Given the description of an element on the screen output the (x, y) to click on. 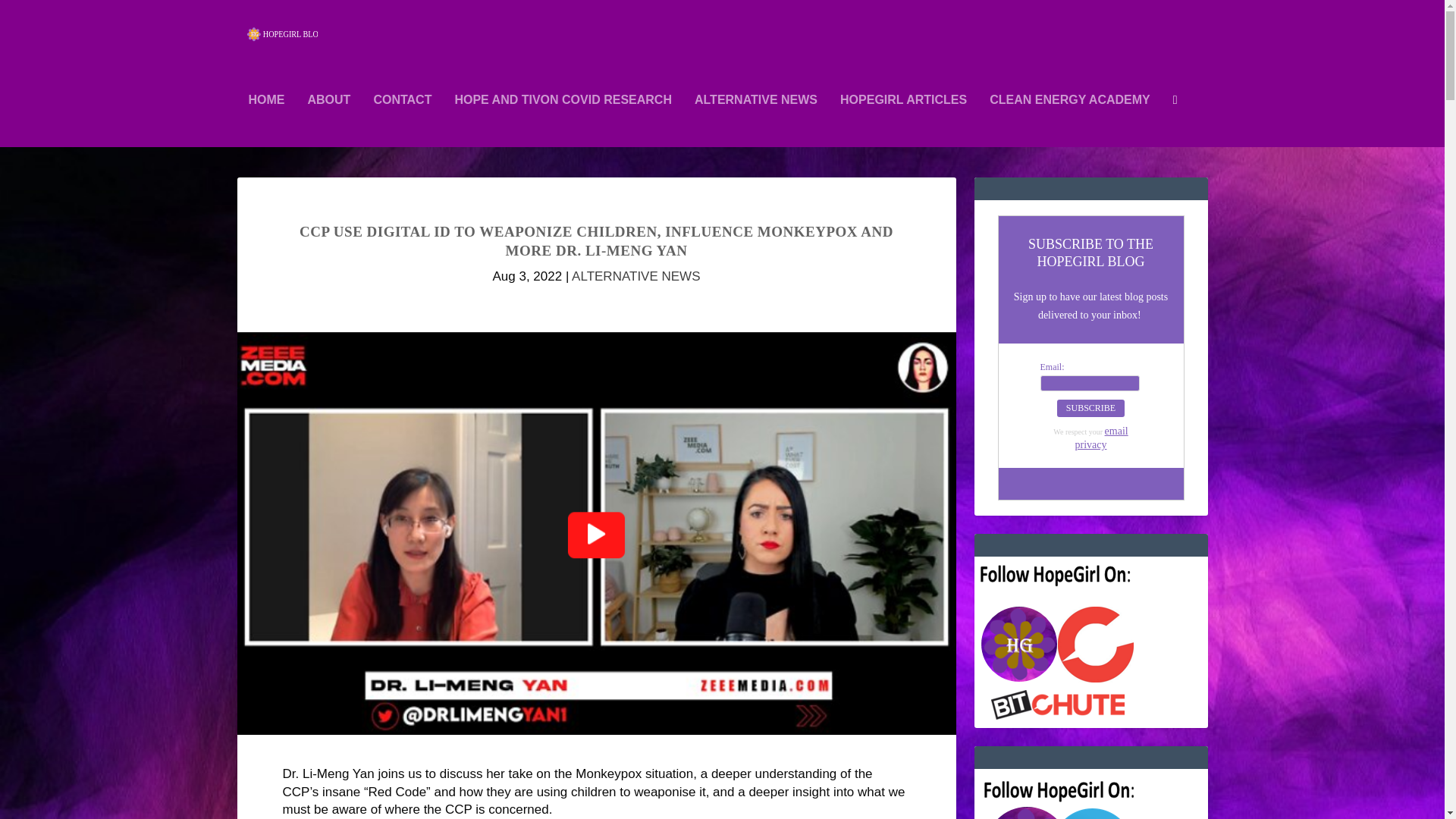
CONTACT (401, 120)
SUBSCRIBE (1090, 407)
SUBSCRIBE (1090, 407)
CLEAN ENERGY ACADEMY (1070, 120)
ALTERNATIVE NEWS (755, 120)
email privacy (1101, 437)
HOPEGIRL ARTICLES (903, 120)
ALTERNATIVE NEWS (636, 276)
HOPE AND TIVON COVID RESEARCH (562, 120)
Privacy Policy (1101, 437)
